Given the description of an element on the screen output the (x, y) to click on. 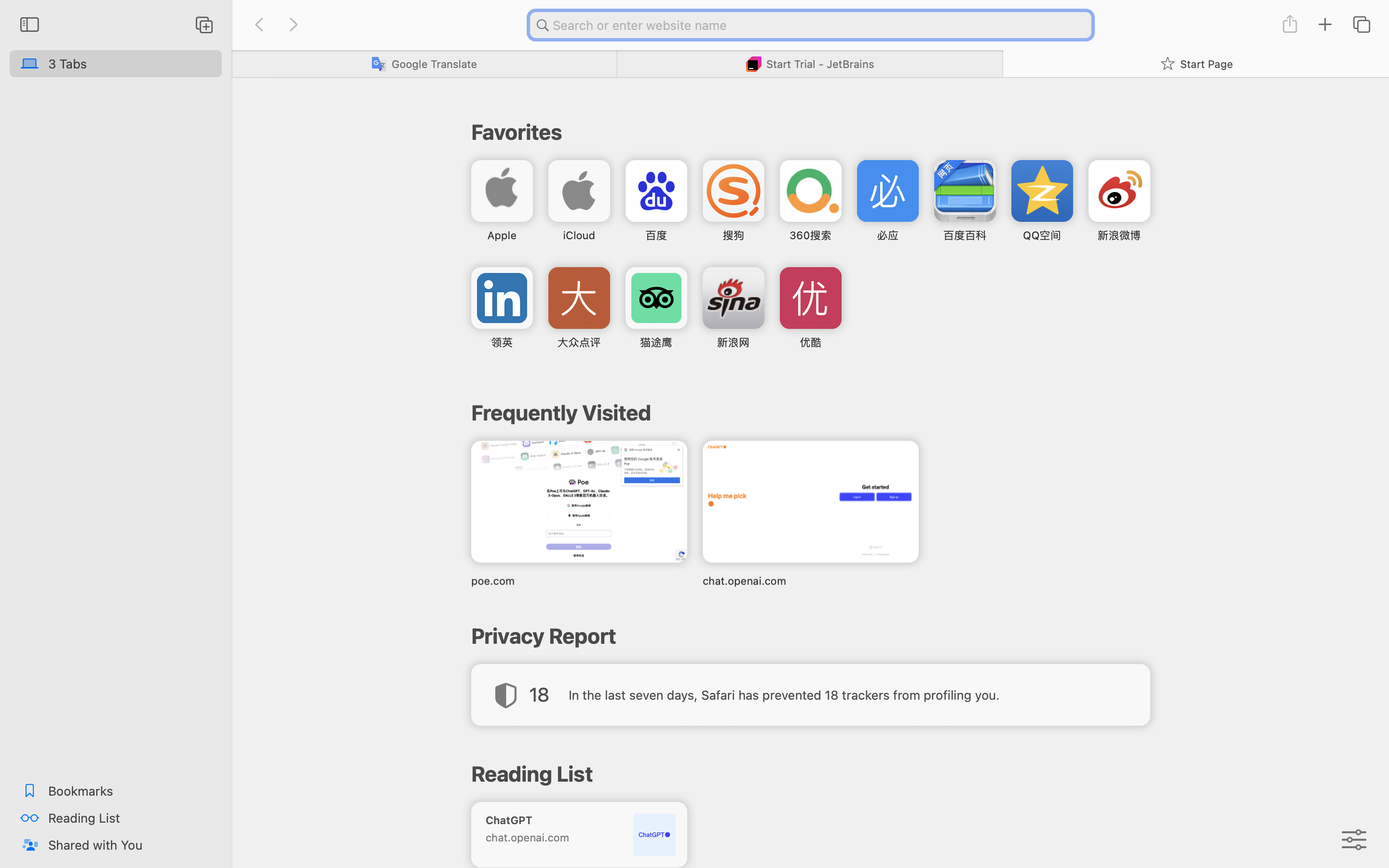
poe.com Element type: AXStaticText (578, 580)
必应 Element type: AXButton (887, 235)
In the last seven days, Safari has prevented 18 trackers from profiling you. Element type: AXStaticText (783, 694)
chat.openai.com Element type: AXStaticText (810, 580)
新浪微博 Element type: AXButton (1118, 235)
